Given the description of an element on the screen output the (x, y) to click on. 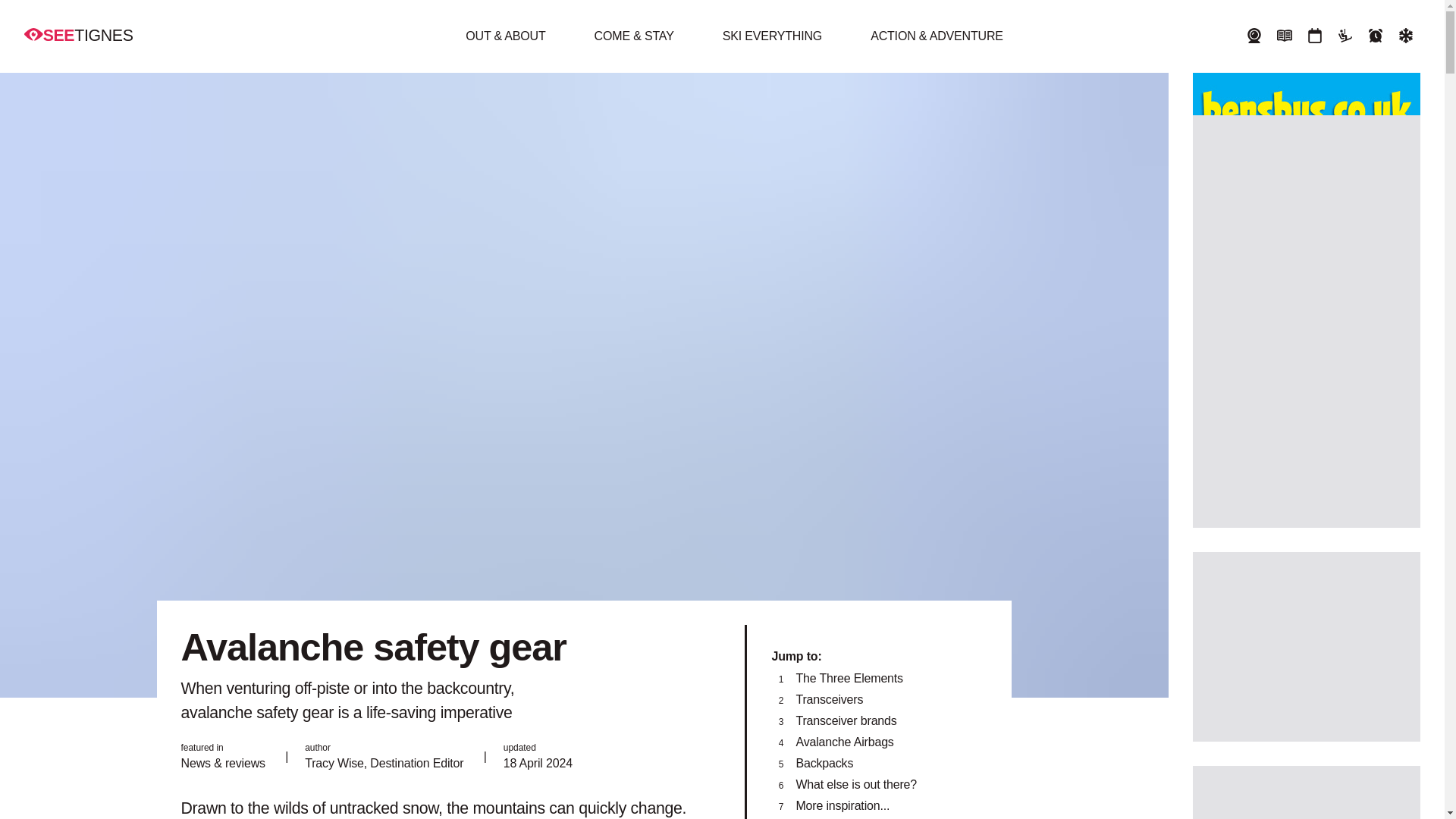
News (1284, 36)
Season (1375, 36)
Go to home page (78, 35)
Lifts (1345, 36)
Events (1314, 36)
Snow (1406, 36)
SEETIGNES (78, 35)
Webcams (1254, 36)
